Given the description of an element on the screen output the (x, y) to click on. 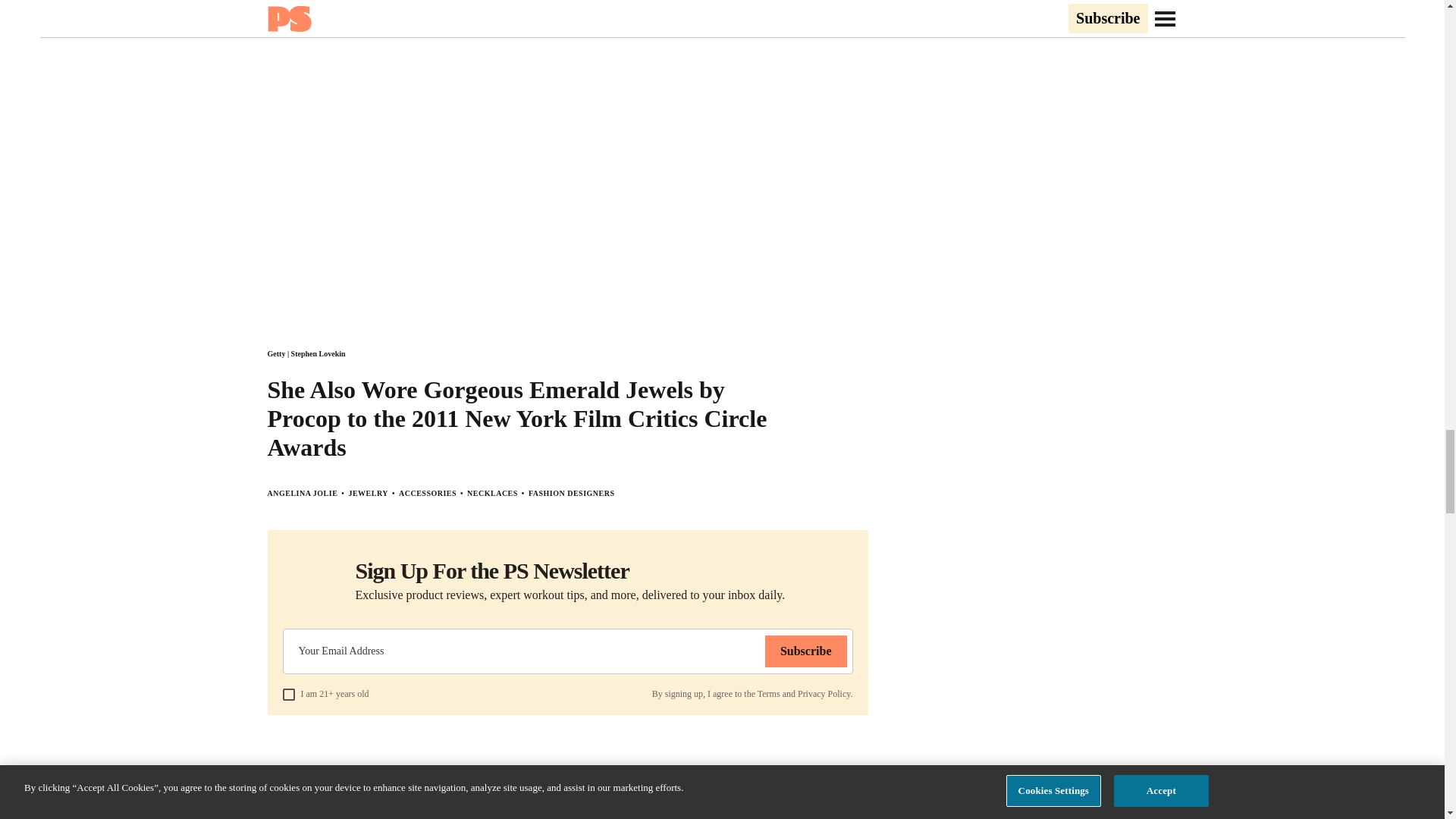
JEWELRY (367, 492)
ACCESSORIES (427, 492)
Subscribe (806, 651)
Terms (768, 693)
FASHION DESIGNERS (571, 492)
Privacy Policy. (825, 693)
NECKLACES (492, 492)
ANGELINA JOLIE (301, 492)
